Given the description of an element on the screen output the (x, y) to click on. 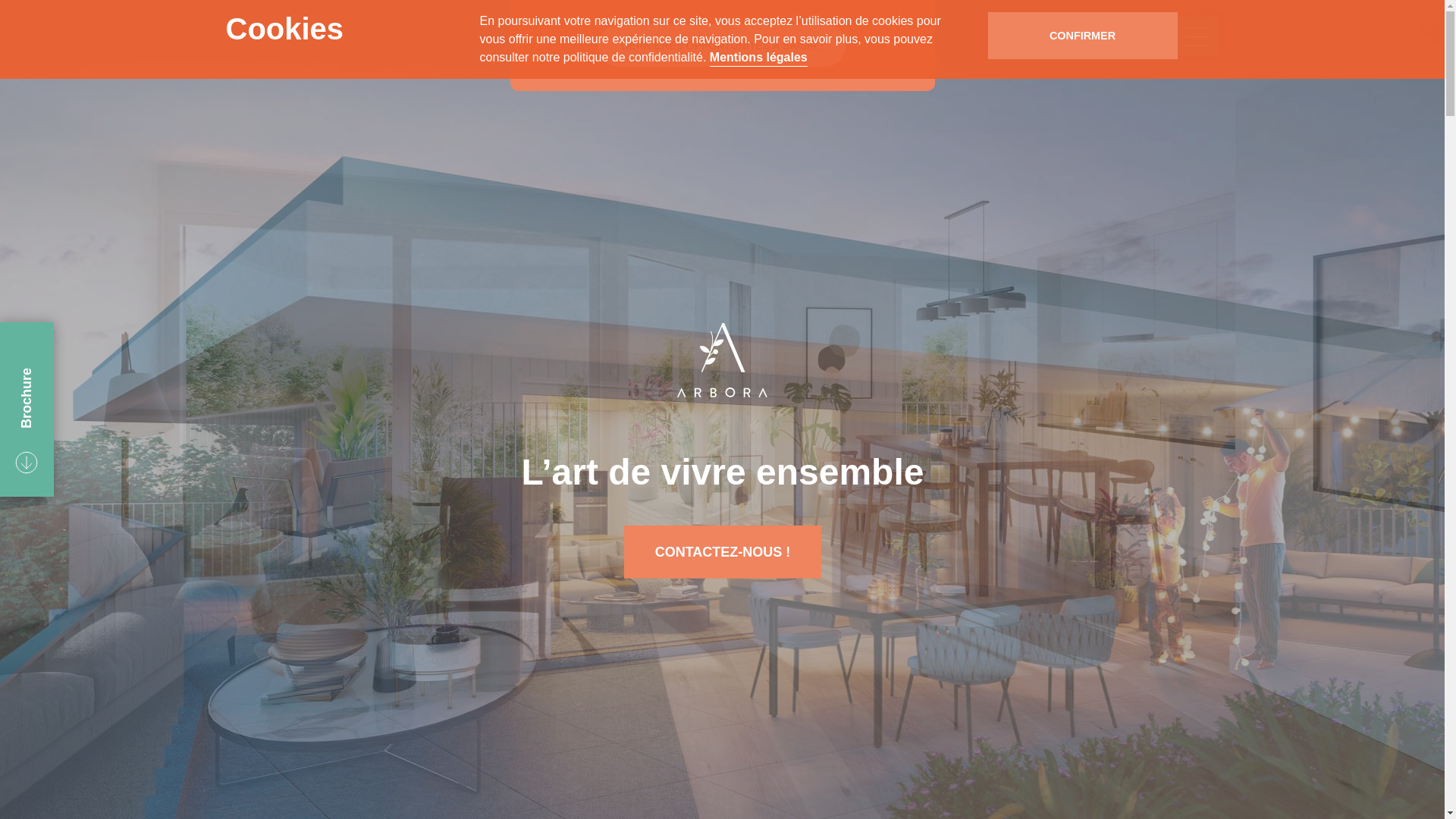
CONFIRMER Element type: text (1081, 35)
CONTACTEZ-NOUS ! Element type: text (722, 550)
Brochure Element type: text (60, 374)
